Given the description of an element on the screen output the (x, y) to click on. 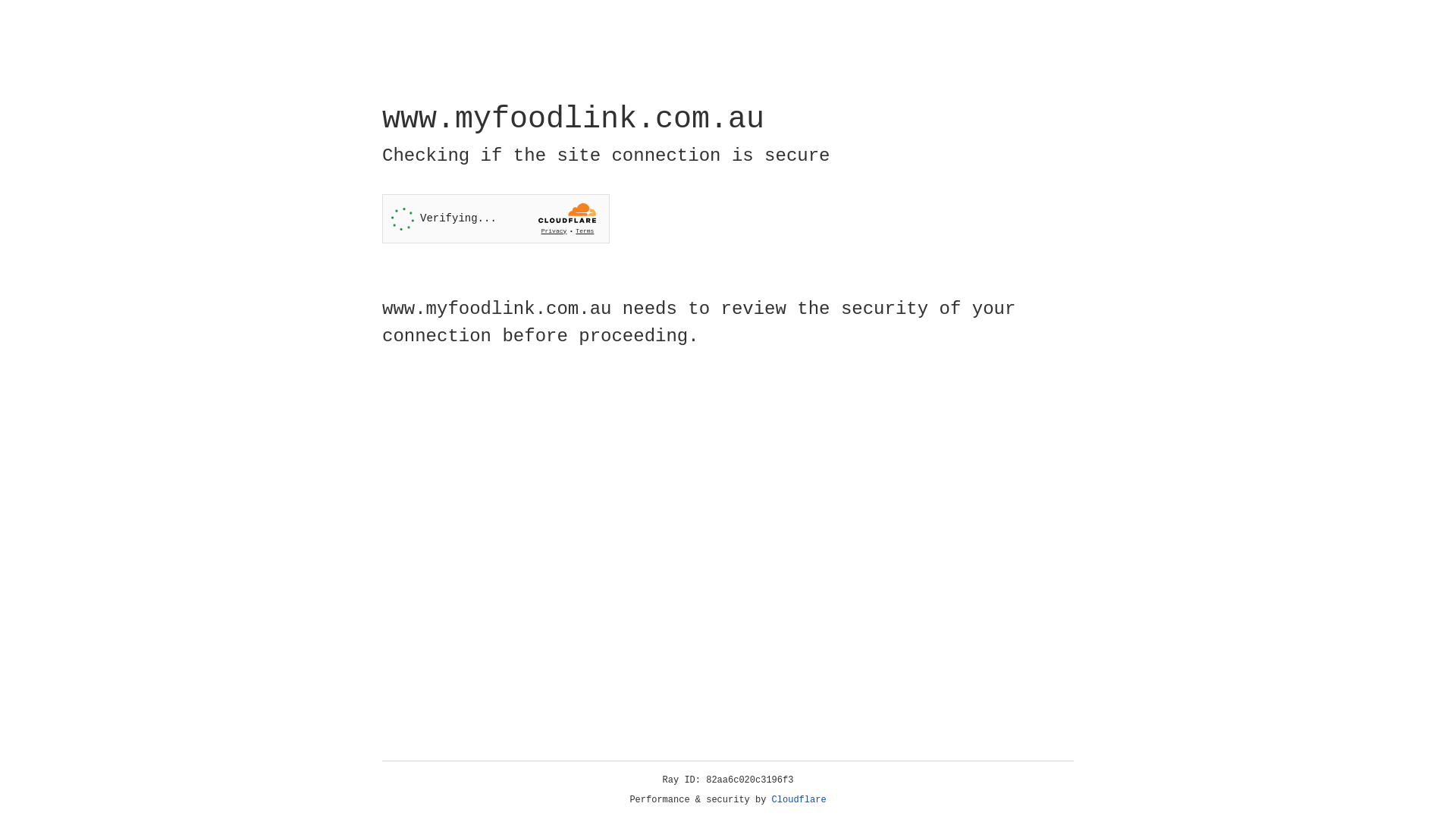
Widget containing a Cloudflare security challenge Element type: hover (495, 218)
Cloudflare Element type: text (798, 799)
